Given the description of an element on the screen output the (x, y) to click on. 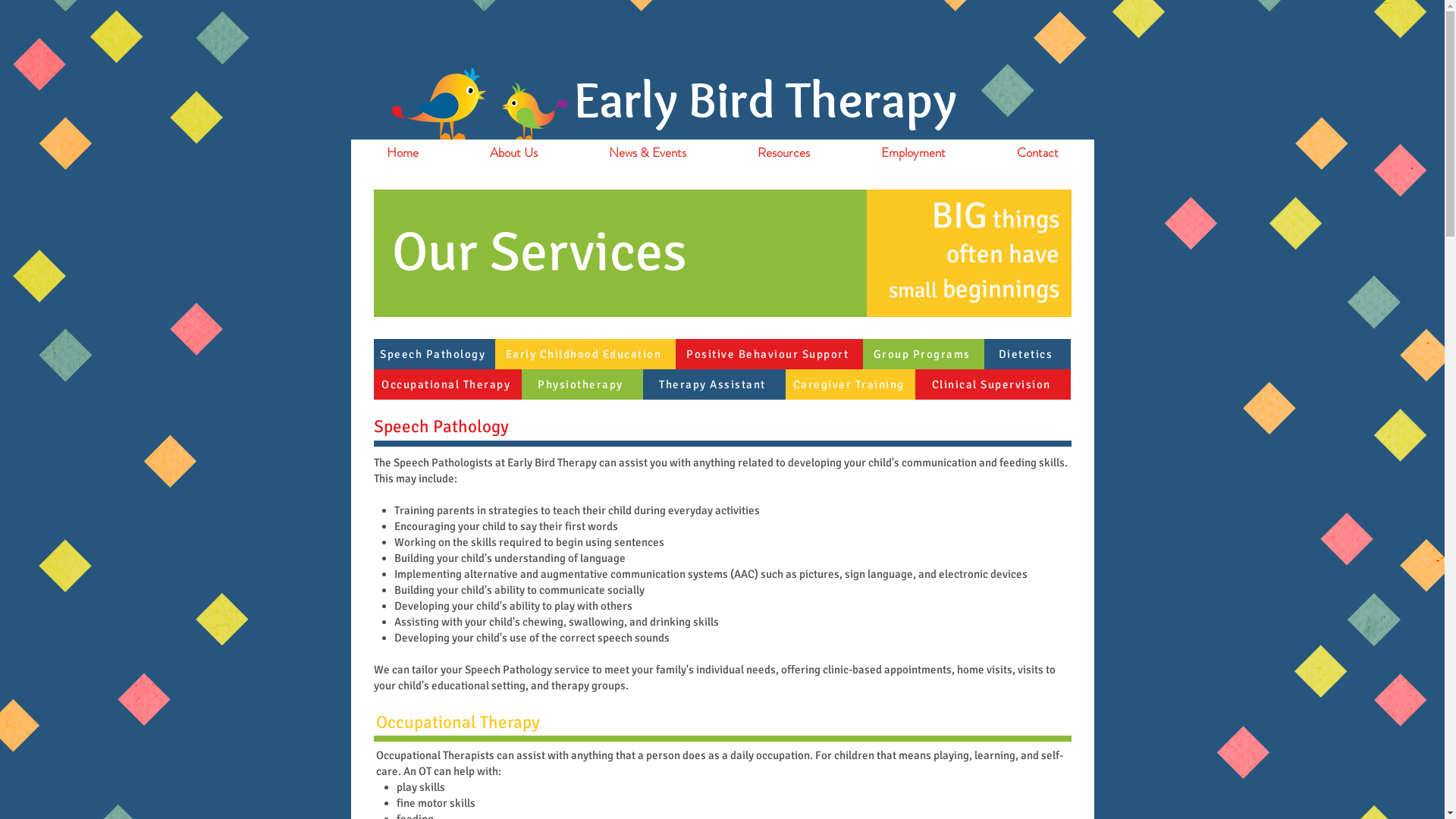
Positive Behaviour Support Element type: text (768, 353)
Caregiver Training Element type: text (850, 384)
Clinical Supervision Element type: text (992, 384)
Early Bird Therapy Element type: text (764, 100)
Resources Element type: text (783, 152)
News & Events Element type: text (647, 152)
Employment Element type: text (912, 152)
Contact Element type: text (1037, 152)
Physiotherapy Element type: text (582, 384)
Group Programs Element type: text (923, 353)
Therapy Assistant Element type: text (714, 384)
Dietetics Element type: text (1027, 353)
Speech Pathology Element type: text (433, 353)
Home Element type: text (401, 152)
Occupational Therapy Element type: text (446, 384)
Early Childhood Education Element type: text (584, 353)
